Given the description of an element on the screen output the (x, y) to click on. 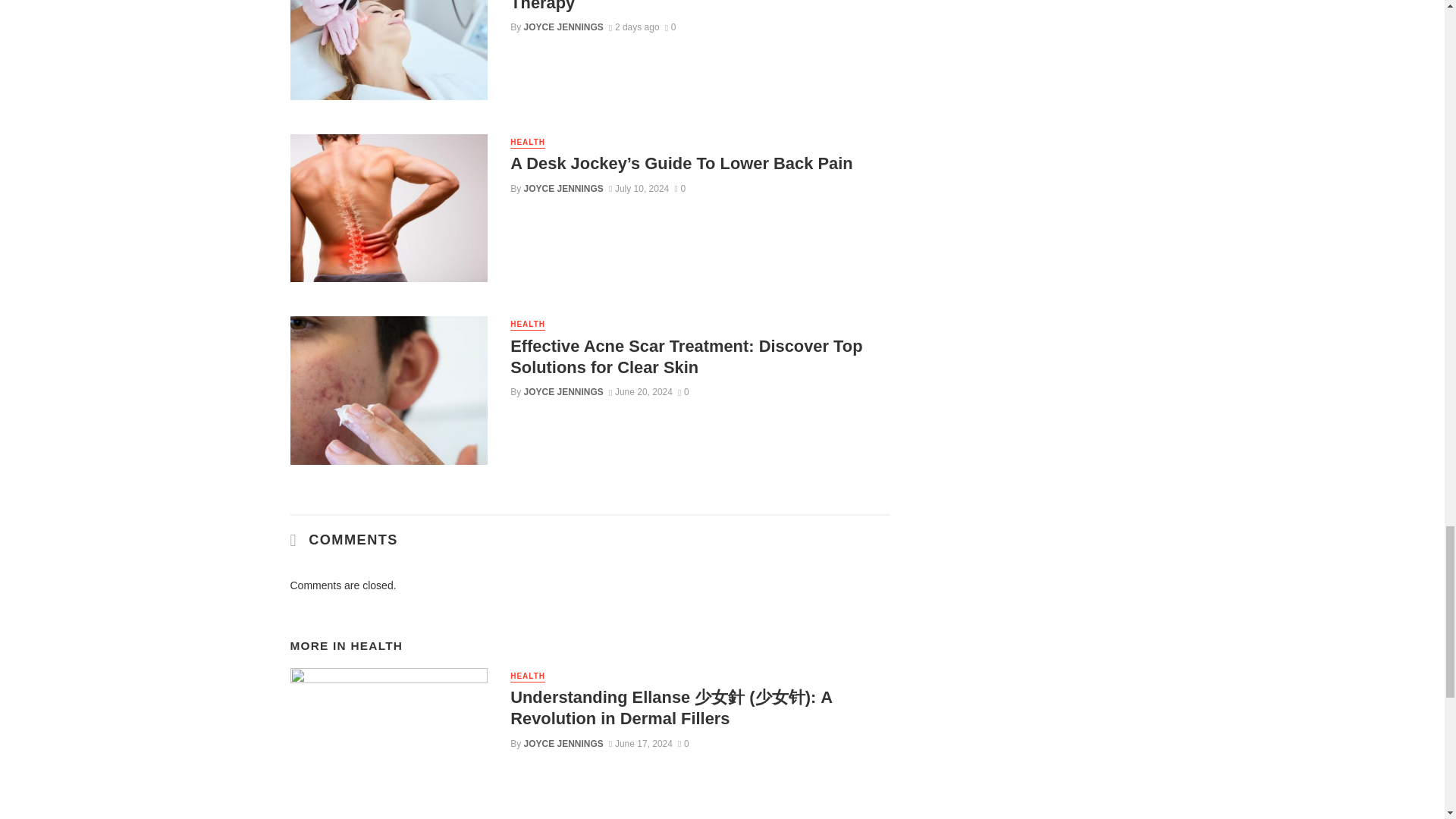
HEALTH (527, 142)
Revitalize Your Skin with Fractional CO2 Laser Therapy (699, 7)
0 (671, 27)
JOYCE JENNINGS (564, 27)
July 10, 2024 at 12:54 pm (638, 188)
0 Comments (671, 27)
July 15, 2024 at 12:39 pm (633, 27)
